Given the description of an element on the screen output the (x, y) to click on. 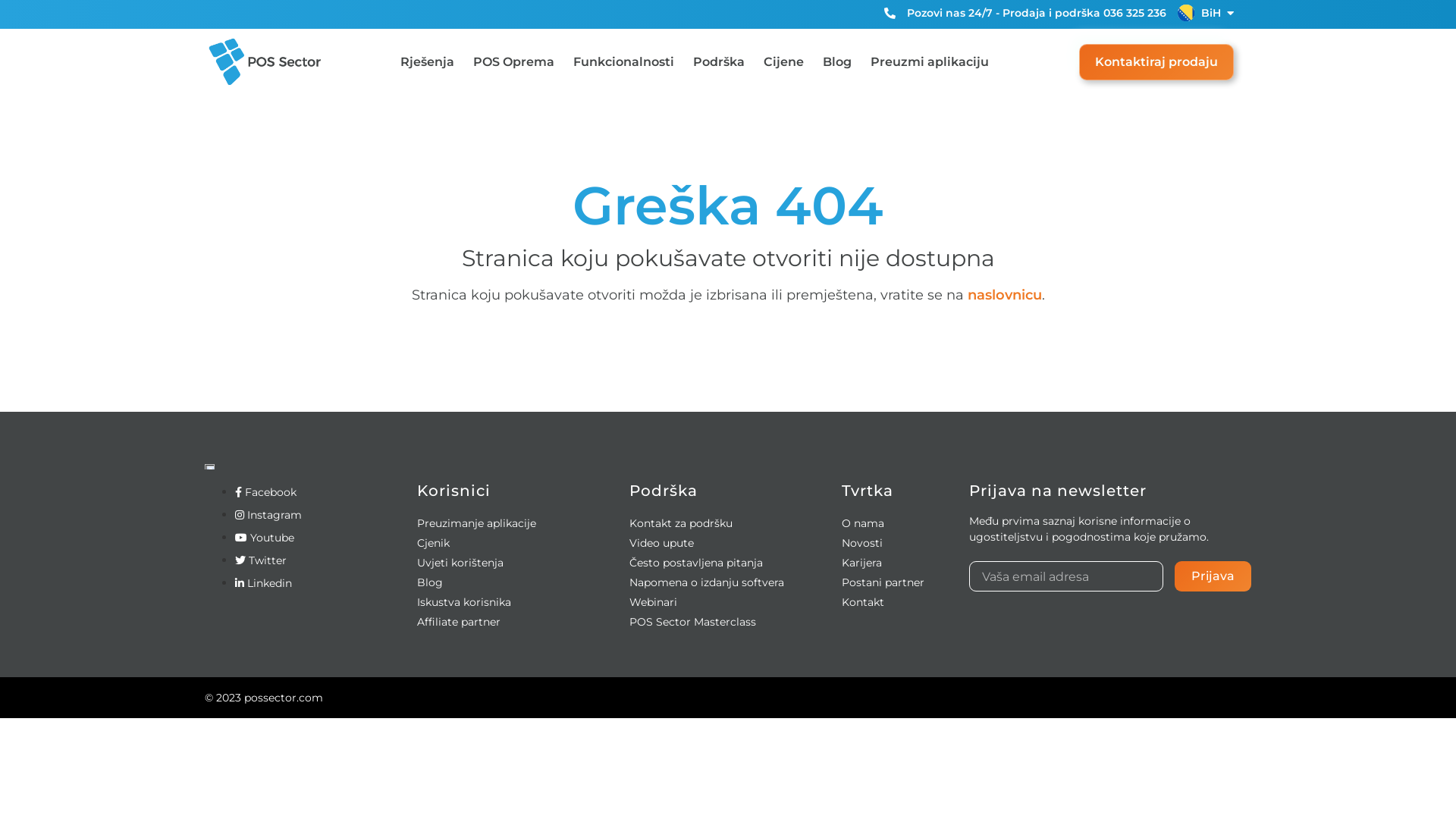
Preuzmi aplikaciju Element type: text (929, 62)
BiH Element type: text (1210, 12)
Iskustva korisnika Element type: text (464, 601)
Kontaktiraj prodaju Element type: text (1156, 61)
O nama Element type: text (862, 523)
Novosti Element type: text (861, 542)
Cjenik Element type: text (433, 542)
Kontakt Element type: text (862, 601)
Twitter Element type: text (260, 560)
Postani partner Element type: text (882, 582)
Affiliate partner Element type: text (458, 621)
Cijene Element type: text (782, 62)
Karijera Element type: text (861, 562)
Video upute Element type: text (661, 542)
Linkedin Element type: text (263, 582)
naslovnicu Element type: text (1004, 294)
Preuzimanje aplikacije Element type: text (476, 523)
Webinari Element type: text (653, 601)
Blog Element type: text (429, 582)
POS Sector Masterclass Element type: text (692, 621)
Prijava Element type: text (1212, 576)
Youtube Element type: text (264, 537)
Napomena o izdanju softvera Element type: text (706, 582)
Instagram Element type: text (268, 514)
Funkcionalnosti Element type: text (623, 62)
POS Oprema Element type: text (513, 62)
Facebook Element type: text (265, 491)
Blog Element type: text (836, 62)
